Given the description of an element on the screen output the (x, y) to click on. 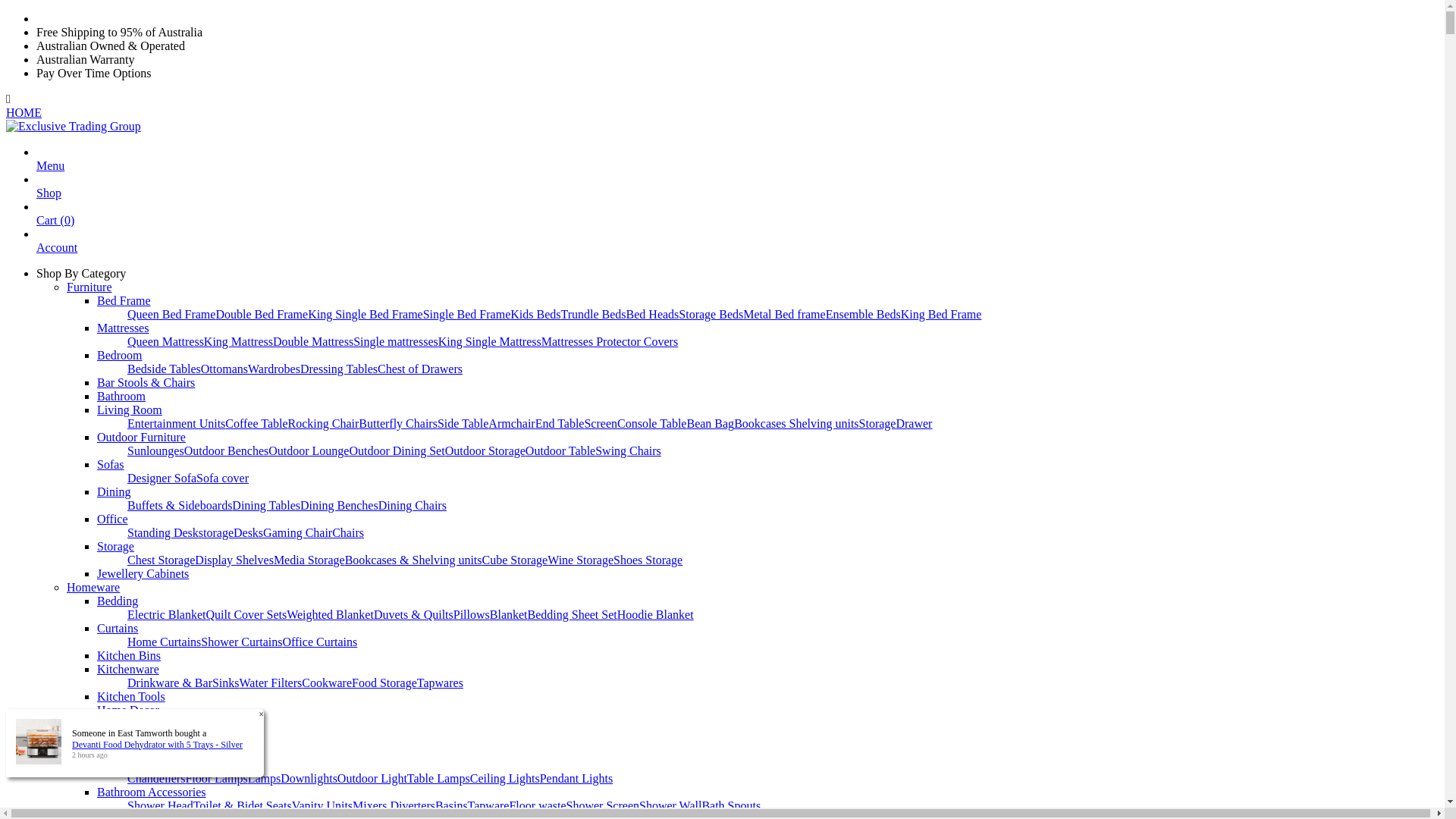
Mattresses Protector Covers Element type: text (609, 341)
Bean Bag Element type: text (710, 423)
Dining Chairs Element type: text (412, 504)
Duvets & Quilts Element type: text (413, 614)
Decor Element type: text (111, 737)
Cookware Element type: text (326, 682)
Shower Wall Element type: text (670, 805)
Furniture Element type: text (89, 286)
Bathroom Accessories Element type: text (151, 791)
Shower Screen Element type: text (602, 805)
Double Mattress Element type: text (313, 341)
Shoes Storage Element type: text (647, 559)
Sofas Element type: text (110, 464)
Outdoor Lounge Element type: text (308, 450)
Outdoor Light Element type: text (372, 777)
Trundle Beds Element type: text (592, 313)
Mixers Diverters Element type: text (393, 805)
Bedside Tables Element type: text (163, 368)
Chest Storage Element type: text (160, 559)
Bedroom Element type: text (119, 354)
Armchair Element type: text (511, 423)
Shop By Category Element type: text (80, 272)
Bathroom Element type: text (121, 395)
Storage Element type: text (115, 545)
storage Element type: text (215, 532)
1300 456 786 Element type: text (65, 19)
Ceiling Lights Element type: text (504, 777)
Kitchenware Element type: text (128, 668)
Desks Element type: text (248, 532)
Shower Head Element type: text (160, 805)
Kitchen Bins Element type: text (128, 655)
HOME Element type: text (23, 112)
Homeware Element type: text (92, 586)
Queen Mattress Element type: text (165, 341)
Storage Beds Element type: text (710, 313)
Door mat Element type: text (201, 750)
Bath Spouts Element type: text (730, 805)
Sunlounges Element type: text (155, 450)
Side Table Element type: text (462, 423)
Floor waste Element type: text (536, 805)
Dining Benches Element type: text (339, 504)
Gaming Chair Element type: text (297, 532)
Quilt Cover Sets Element type: text (246, 614)
Ensemble Beds Element type: text (862, 313)
Queen Bed Frame Element type: text (171, 313)
Single Bed Frame Element type: text (467, 313)
Dining Element type: text (113, 491)
Chairs Element type: text (348, 532)
Food Storage Element type: text (384, 682)
Weighted Blanket Element type: text (329, 614)
Outdoor Dining Set Element type: text (396, 450)
Drawer Element type: text (913, 423)
Cart (0) Element type: text (55, 226)
King Bed Frame Element type: text (941, 313)
Ottomans Element type: text (223, 368)
King Single Bed Frame Element type: text (365, 313)
Shop Element type: text (48, 199)
Account Element type: text (56, 254)
Display Shelves Element type: text (233, 559)
Shower Curtains Element type: text (241, 641)
Pendant Lights Element type: text (575, 777)
Bedding Sheet Set Element type: text (572, 614)
Slipcovers Element type: text (152, 750)
Exclusive Trading Group Element type: hover (73, 125)
Bedding Element type: text (117, 600)
Downlights Element type: text (308, 777)
Butterfly Chairs Element type: text (397, 423)
Blanket Element type: text (508, 614)
Outdoor Benches Element type: text (226, 450)
Bar Stools & Chairs Element type: text (145, 382)
Living Room Element type: text (129, 409)
Swing Chairs Element type: text (628, 450)
Lighting Element type: text (117, 764)
Coffee Table Element type: text (256, 423)
Menu Element type: text (50, 172)
Sinks Element type: text (225, 682)
Tapwares Element type: text (440, 682)
Wardrobes Element type: text (273, 368)
Media Storage Element type: text (309, 559)
Vanity Units Element type: text (321, 805)
Water Filters Element type: text (270, 682)
Scales Element type: text (112, 723)
Chandeliers Element type: text (156, 777)
Electric Blanket Element type: text (166, 614)
Drinkware & Bar Element type: text (169, 682)
Single mattresses Element type: text (395, 341)
Sofa cover Element type: text (222, 477)
Lamps Element type: text (264, 777)
Office Element type: text (112, 518)
Wine Storage Element type: text (580, 559)
Mattresses Element type: text (122, 327)
Basins Element type: text (451, 805)
Office Curtains Element type: text (319, 641)
Storage Element type: text (877, 423)
Outdoor Table Element type: text (560, 450)
Bookcases & Shelving units Element type: text (413, 559)
Entertainment Units Element type: text (176, 423)
Screen Element type: text (600, 423)
Pillows Element type: text (471, 614)
Jewellery Cabinets Element type: text (142, 573)
Dining Tables Element type: text (266, 504)
Bookcases Shelving units Element type: text (796, 423)
Home Curtains Element type: text (163, 641)
End Table Element type: text (559, 423)
Kids Beds Element type: text (535, 313)
Hoodie Blanket Element type: text (655, 614)
Metal Bed frame Element type: text (784, 313)
Outdoor Storage Element type: text (485, 450)
Cube Storage Element type: text (515, 559)
Curtains Element type: text (117, 627)
Home Decor Element type: text (128, 709)
Designer Sofa Element type: text (161, 477)
Floor Lamps Element type: text (216, 777)
King Mattress Element type: text (238, 341)
Outdoor Furniture Element type: text (141, 436)
Standing Desk Element type: text (162, 532)
Double Bed Frame Element type: text (261, 313)
Dressing Tables Element type: text (338, 368)
Tapware Element type: text (488, 805)
Rocking Chair Element type: text (323, 423)
Kitchen Tools Element type: text (131, 696)
Buffets & Sideboards Element type: text (179, 504)
Console Table Element type: text (651, 423)
Table Lamps Element type: text (438, 777)
Bed Heads Element type: text (652, 313)
King Single Mattress Element type: text (489, 341)
Toilet & Bidet Seats Element type: text (242, 805)
Chest of Drawers Element type: text (419, 368)
Bed Frame Element type: text (123, 300)
